Given the description of an element on the screen output the (x, y) to click on. 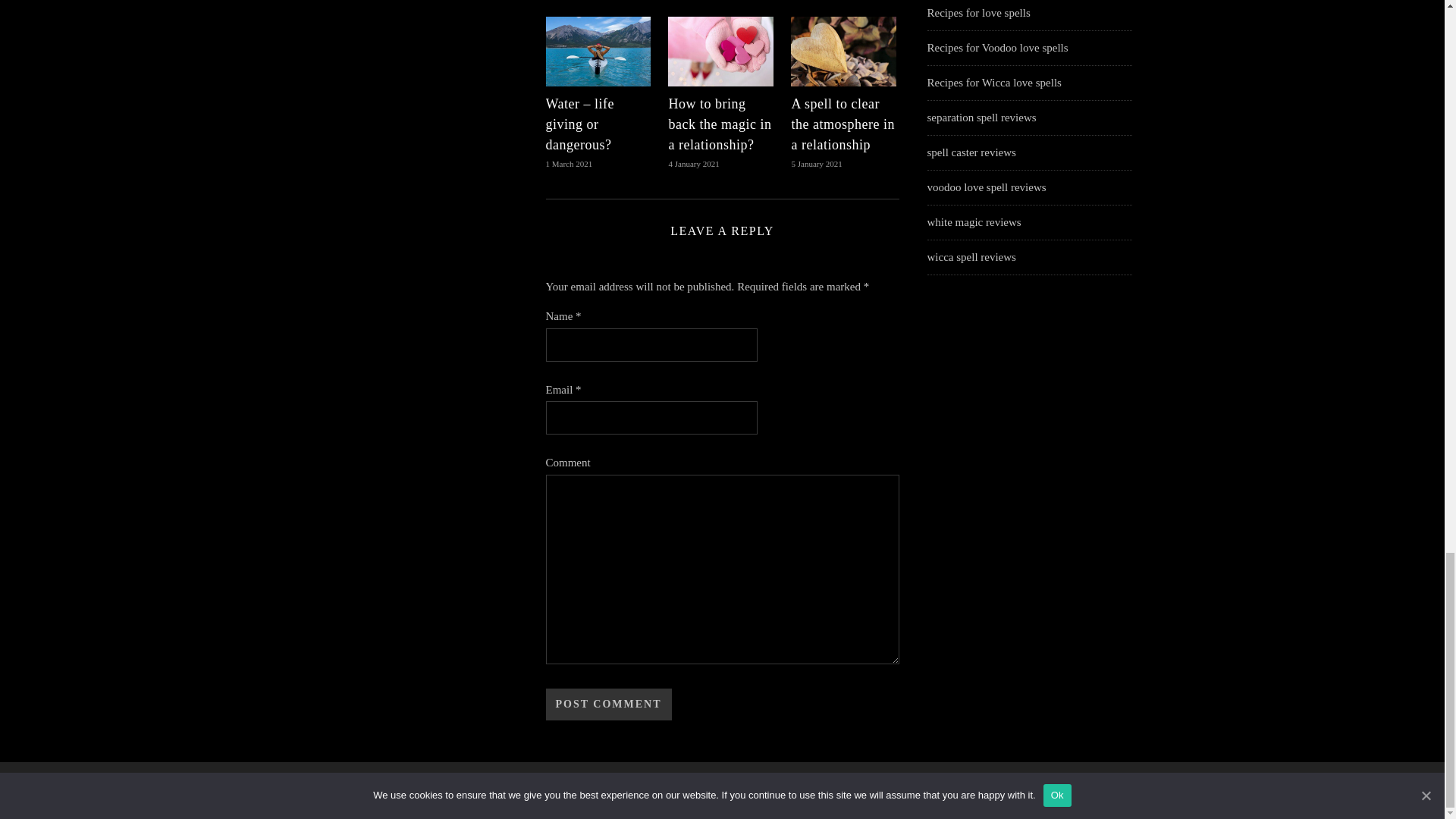
A spell to clear the atmosphere in a relationship (841, 124)
Post Comment (608, 704)
Post Comment (608, 704)
How to bring back the magic in a relationship? (719, 124)
